Given the description of an element on the screen output the (x, y) to click on. 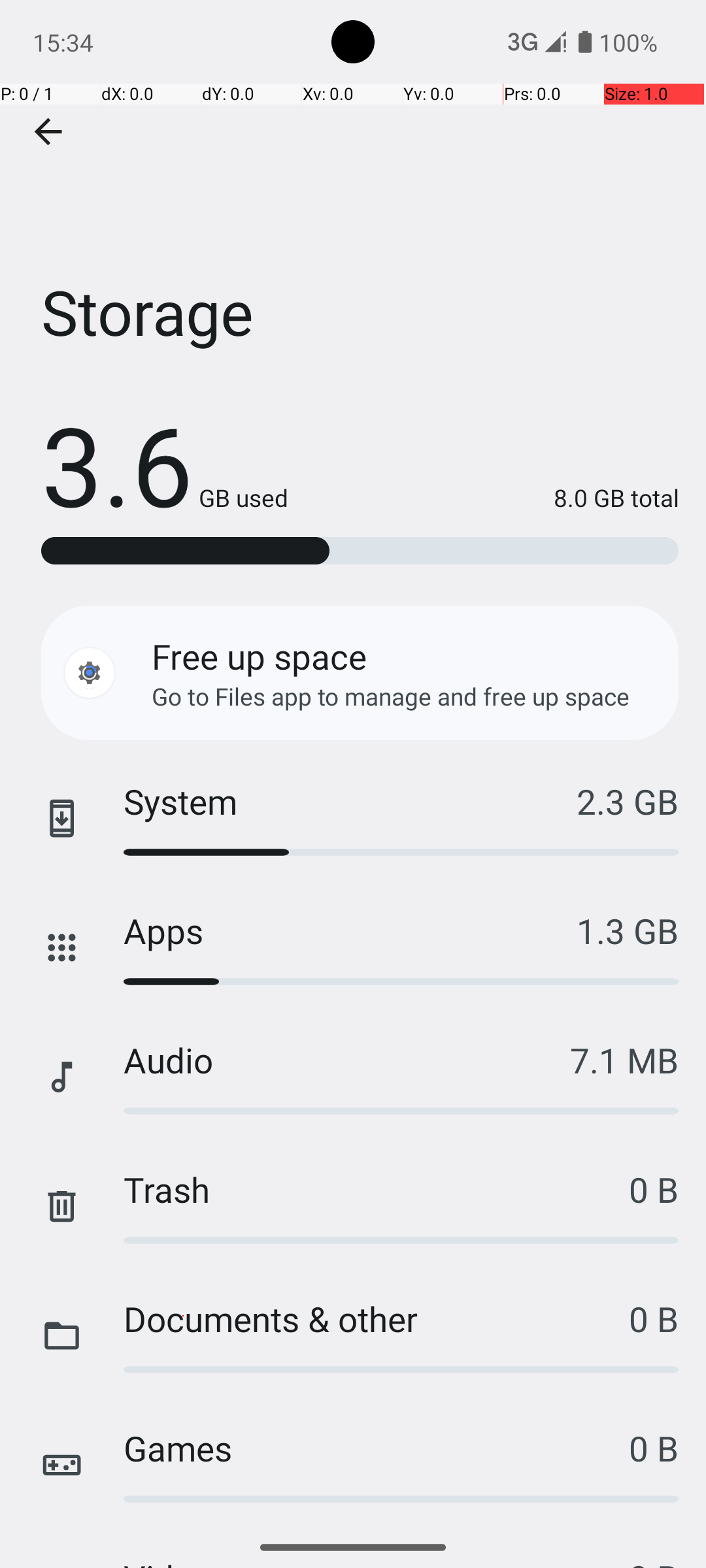
3.6 GB used Element type: android.widget.TextView (164, 463)
8.0 GB total Element type: android.widget.TextView (483, 497)
Free up space Element type: android.widget.TextView (258, 656)
Go to Files app to manage and free up space Element type: android.widget.TextView (390, 695)
2.3 GB Element type: android.widget.TextView (627, 801)
1.3 GB Element type: android.widget.TextView (627, 930)
7.1 MB Element type: android.widget.TextView (624, 1059)
Trash Element type: android.widget.TextView (375, 1189)
0 B Element type: android.widget.TextView (653, 1189)
Documents & other Element type: android.widget.TextView (375, 1318)
Games Element type: android.widget.TextView (375, 1447)
